Given the description of an element on the screen output the (x, y) to click on. 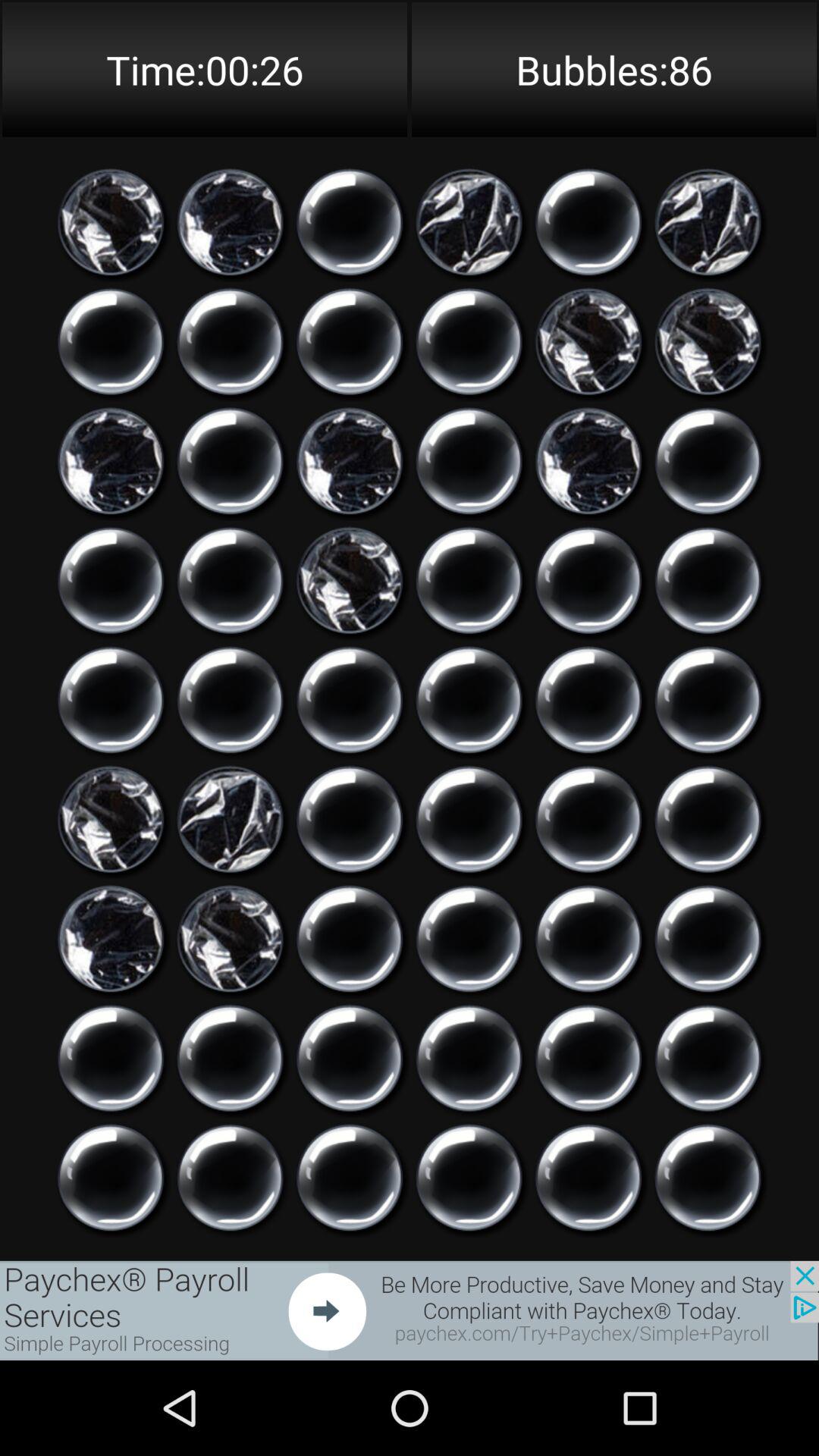
select game piece (588, 819)
